Given the description of an element on the screen output the (x, y) to click on. 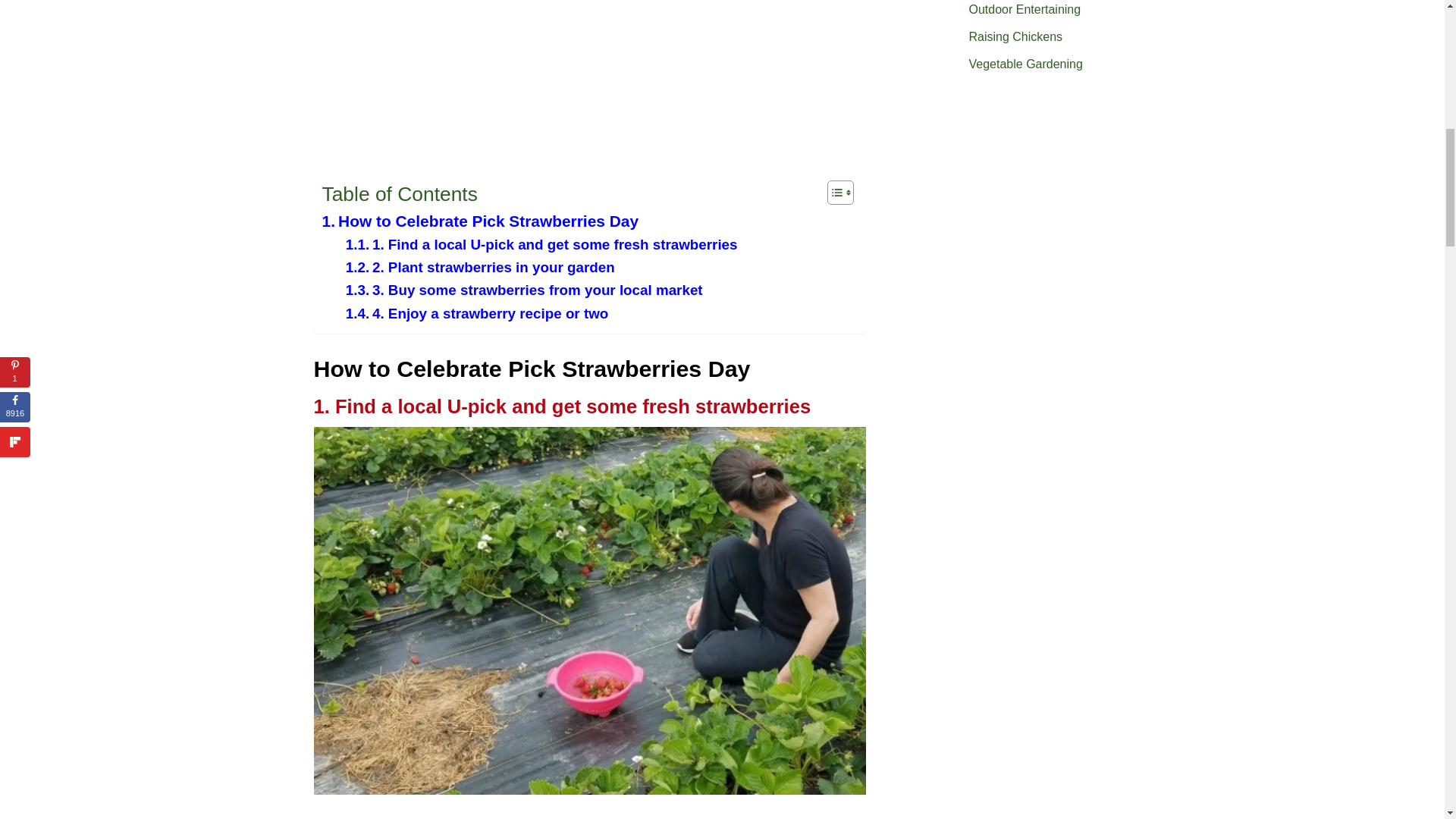
4. Enjoy a strawberry recipe or two (477, 313)
4. Enjoy a strawberry recipe or two (477, 313)
1. Find a local U-pick and get some fresh strawberries (542, 244)
How to Celebrate Pick Strawberries Day (480, 220)
1. Find a local U-pick and get some fresh strawberries (542, 244)
3. Buy some strawberries from your local market (524, 290)
How to Celebrate Pick Strawberries Day (480, 220)
3. Buy some strawberries from your local market (524, 290)
2. Plant strawberries in your garden (480, 267)
2. Plant strawberries in your garden (480, 267)
